Given the description of an element on the screen output the (x, y) to click on. 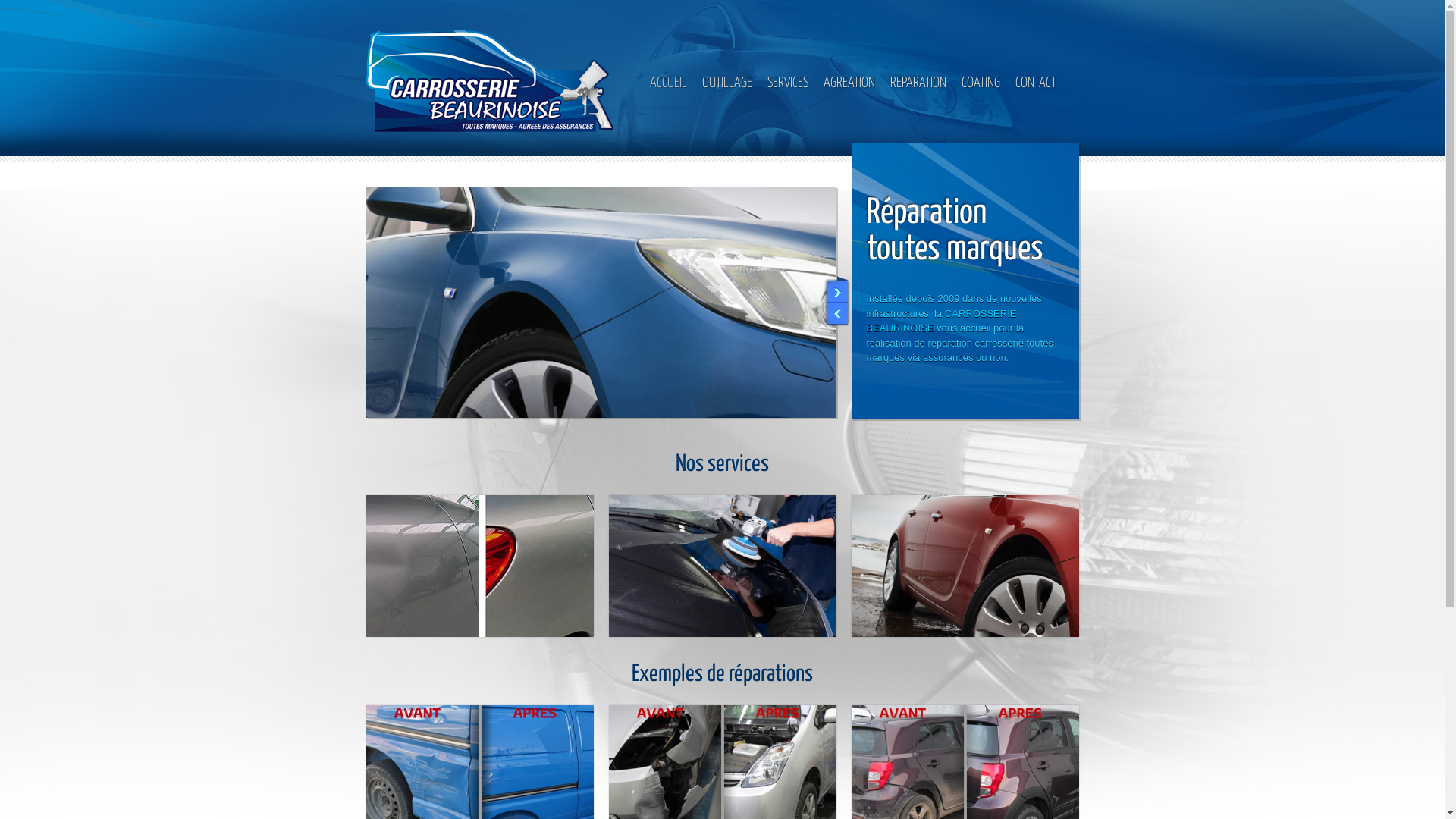
ACCUEIL Element type: text (667, 85)
Next Element type: text (837, 314)
Previous Element type: text (837, 288)
OUTILLAGE Element type: text (727, 85)
COATING Element type: text (980, 85)
SERVICES Element type: text (787, 85)
CONTACT Element type: text (1034, 85)
CARROSSERIE BEAURINOISE Element type: text (941, 320)
